Given the description of an element on the screen output the (x, y) to click on. 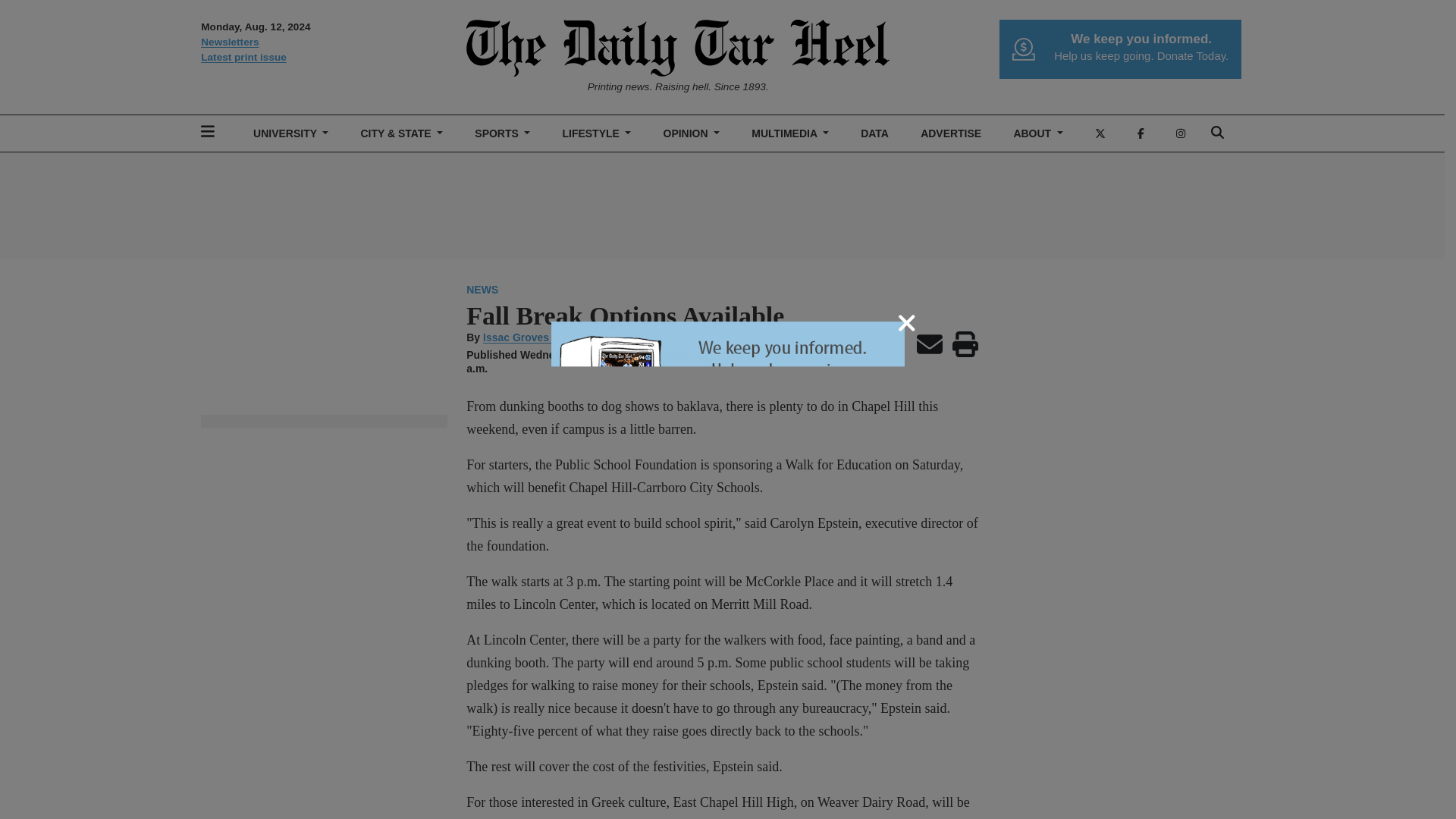
LIFESTYLE (596, 132)
Advertise (951, 132)
Latest print issue (323, 57)
SPORTS (502, 132)
OPINION (691, 132)
We keep you informed. (1140, 38)
Newsletters (323, 42)
Data (874, 132)
UNIVERSITY (290, 132)
